Given the description of an element on the screen output the (x, y) to click on. 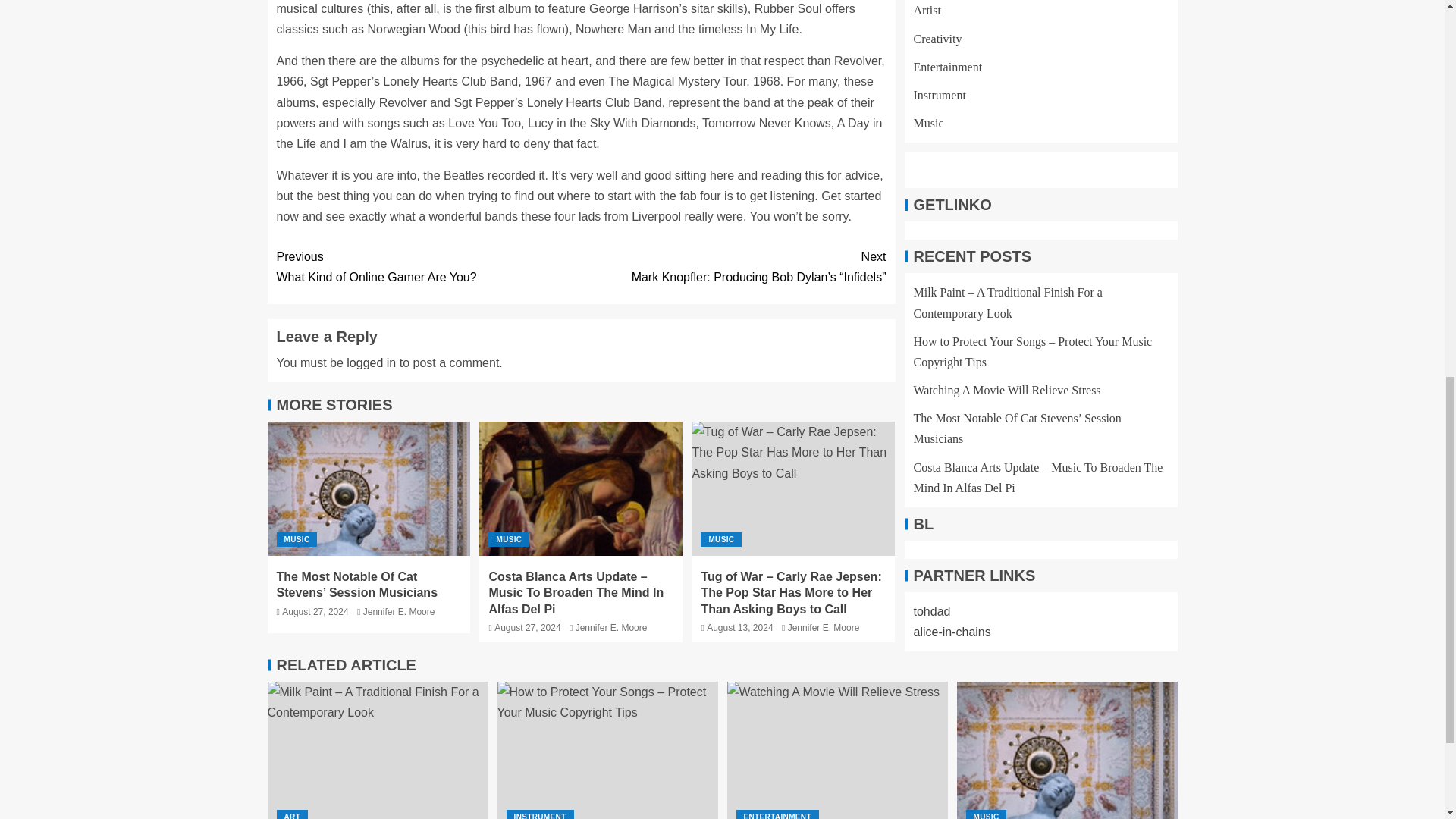
Watching A Movie Will Relieve Stress (836, 750)
MUSIC (296, 539)
MUSIC (508, 539)
logged in (371, 362)
MUSIC (720, 539)
Jennifer E. Moore (611, 627)
Jennifer E. Moore (428, 266)
Jennifer E. Moore (398, 611)
